Given the description of an element on the screen output the (x, y) to click on. 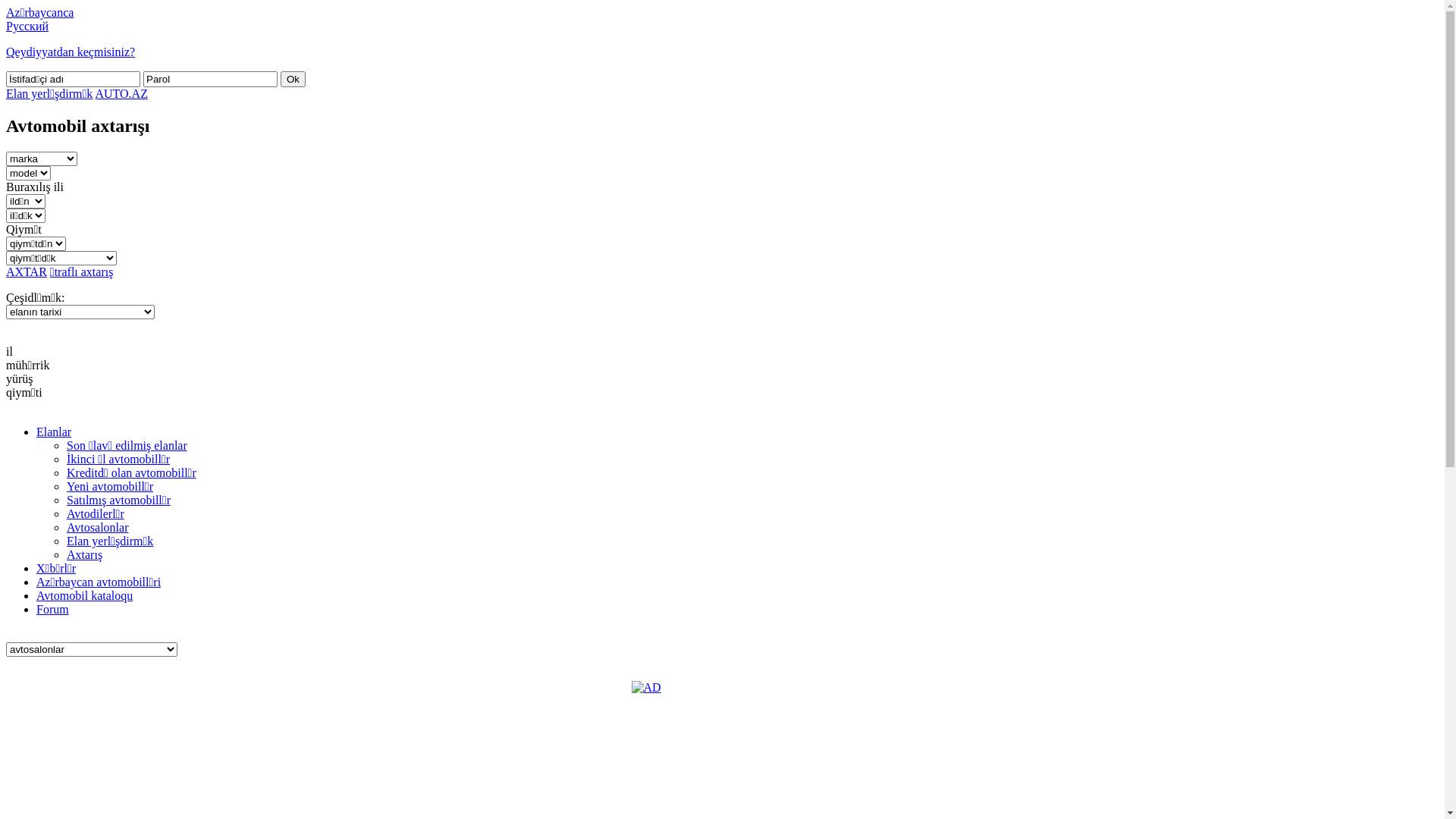
Elanlar Element type: text (53, 431)
Ok Element type: hover (292, 79)
AXTAR Element type: text (26, 271)
Avtosalonlar Element type: text (97, 526)
Avtomobil kataloqu Element type: text (84, 595)
Ok Element type: text (292, 79)
AUTO.AZ Element type: text (120, 93)
Forum Element type: text (52, 608)
